Given the description of an element on the screen output the (x, y) to click on. 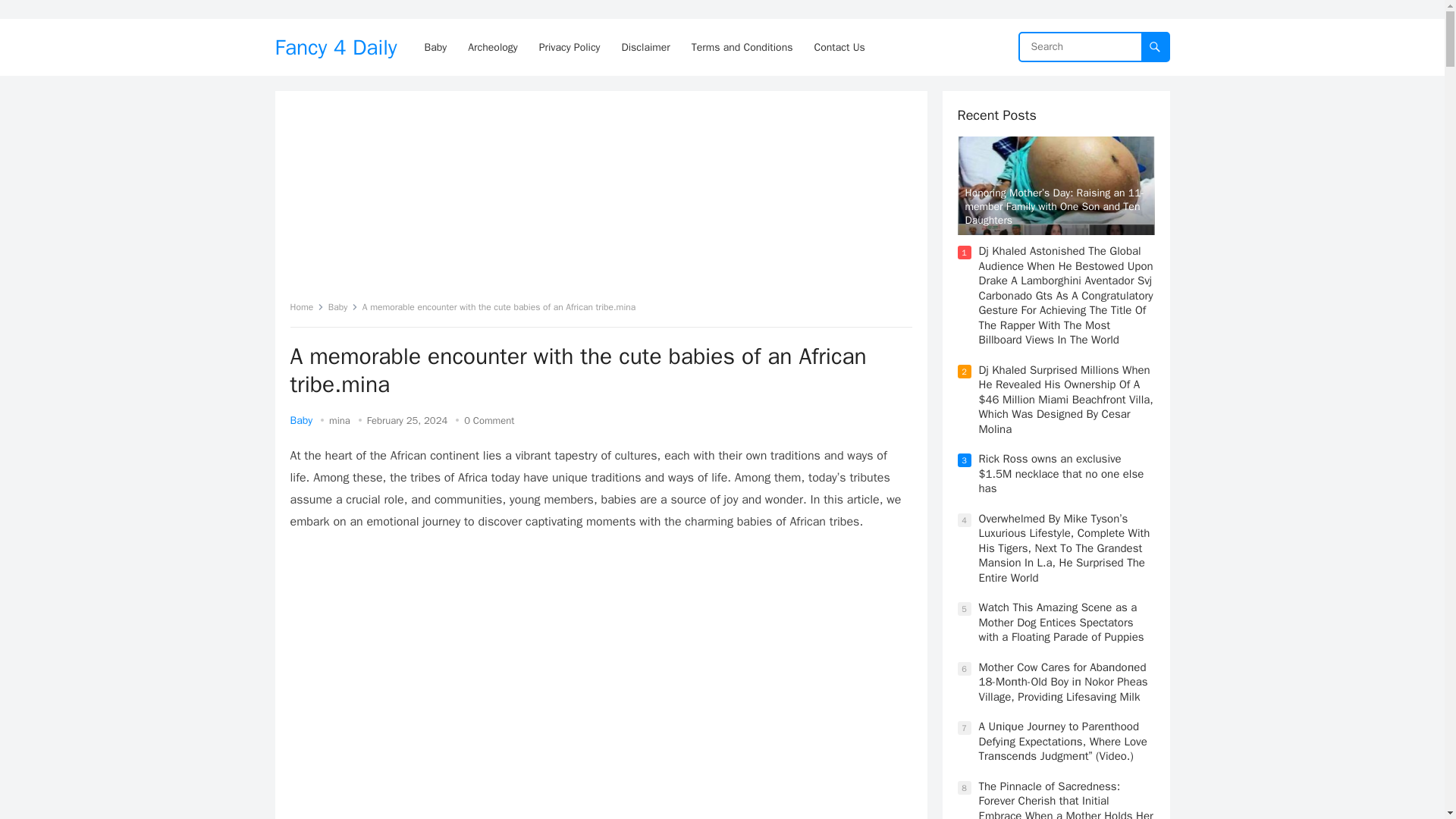
Home (306, 306)
Posts by mina (339, 420)
0 Comment (488, 420)
Baby (301, 420)
mina (339, 420)
Baby (343, 306)
Privacy Policy (569, 47)
Terms and Conditions (742, 47)
Disclaimer (645, 47)
Fancy 4 Daily (335, 47)
